Given the description of an element on the screen output the (x, y) to click on. 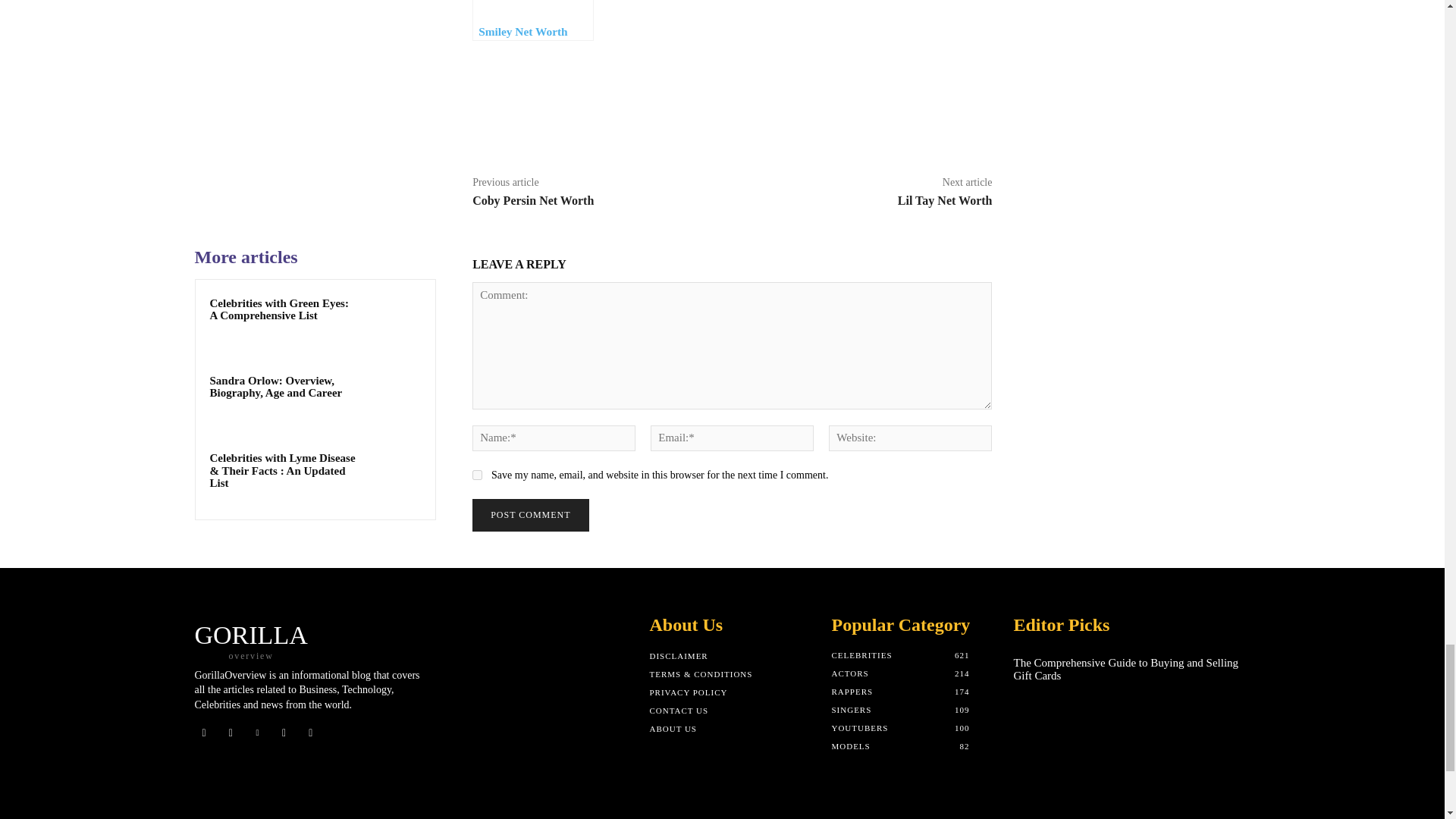
Post Comment (529, 514)
yes (476, 474)
